Given the description of an element on the screen output the (x, y) to click on. 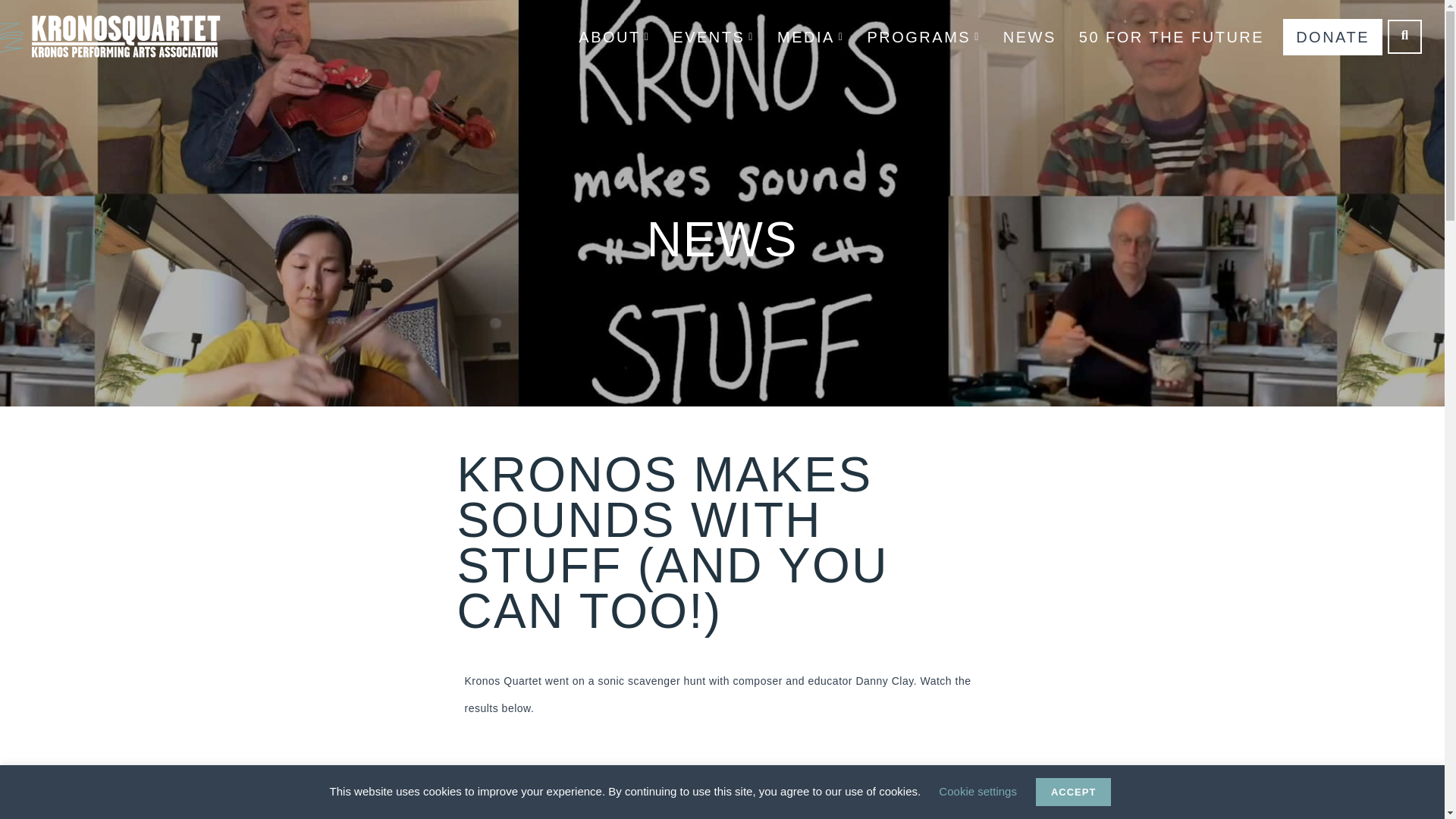
50 FOR THE FUTURE (1171, 36)
MEDIA (810, 36)
PROGRAMS (923, 36)
ABOUT (614, 36)
NEWS (1029, 36)
EVENTS (713, 36)
DONATE (1332, 36)
